Given the description of an element on the screen output the (x, y) to click on. 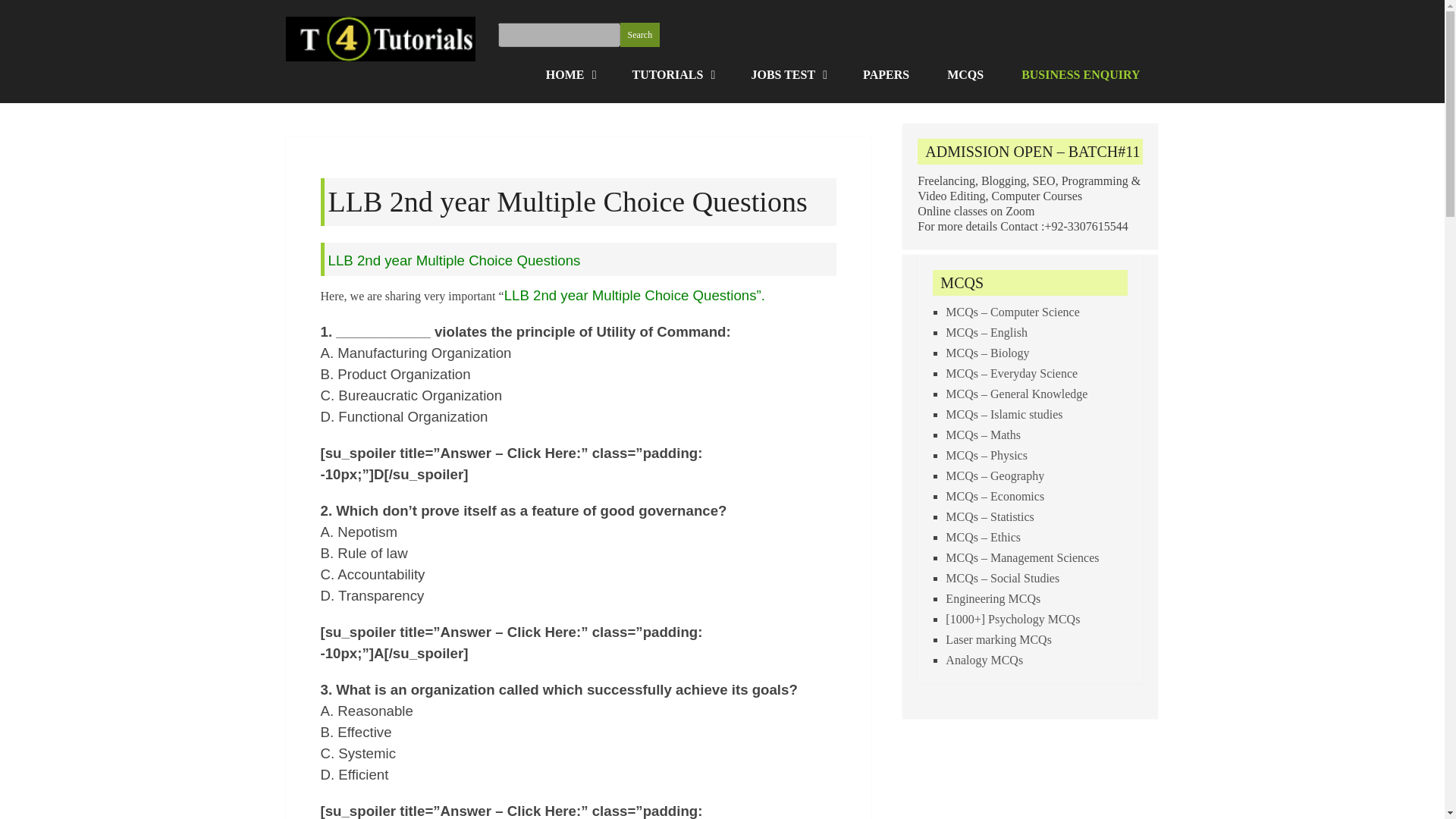
JOBS TEST (788, 74)
TUTORIALS (672, 74)
MCQS (965, 74)
BUSINESS ENQUIRY (1080, 74)
Search (640, 34)
Search (640, 34)
HOME (569, 74)
PAPERS (886, 74)
